Given the description of an element on the screen output the (x, y) to click on. 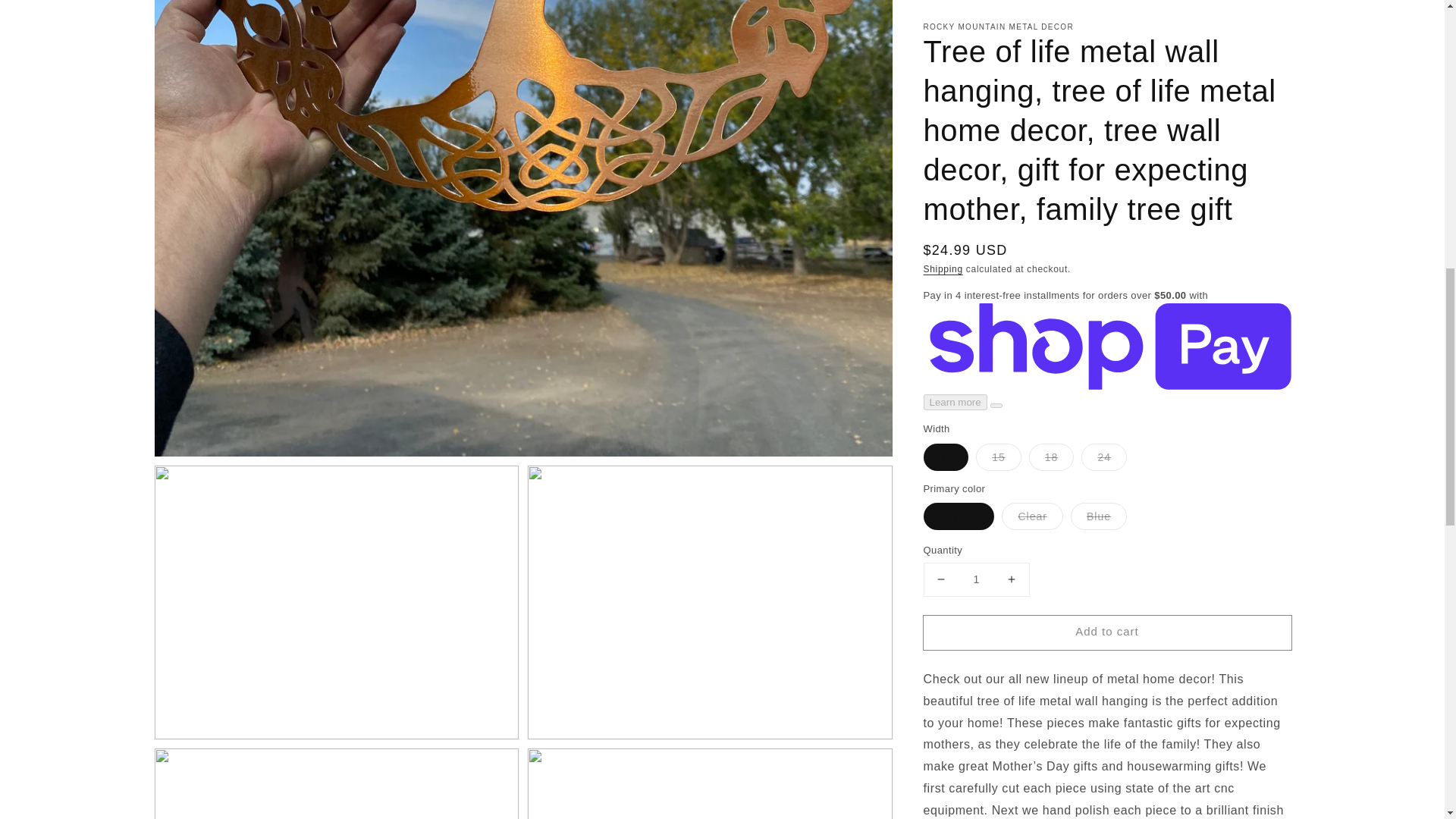
1 (976, 29)
Add to cart (1107, 82)
